Given the description of an element on the screen output the (x, y) to click on. 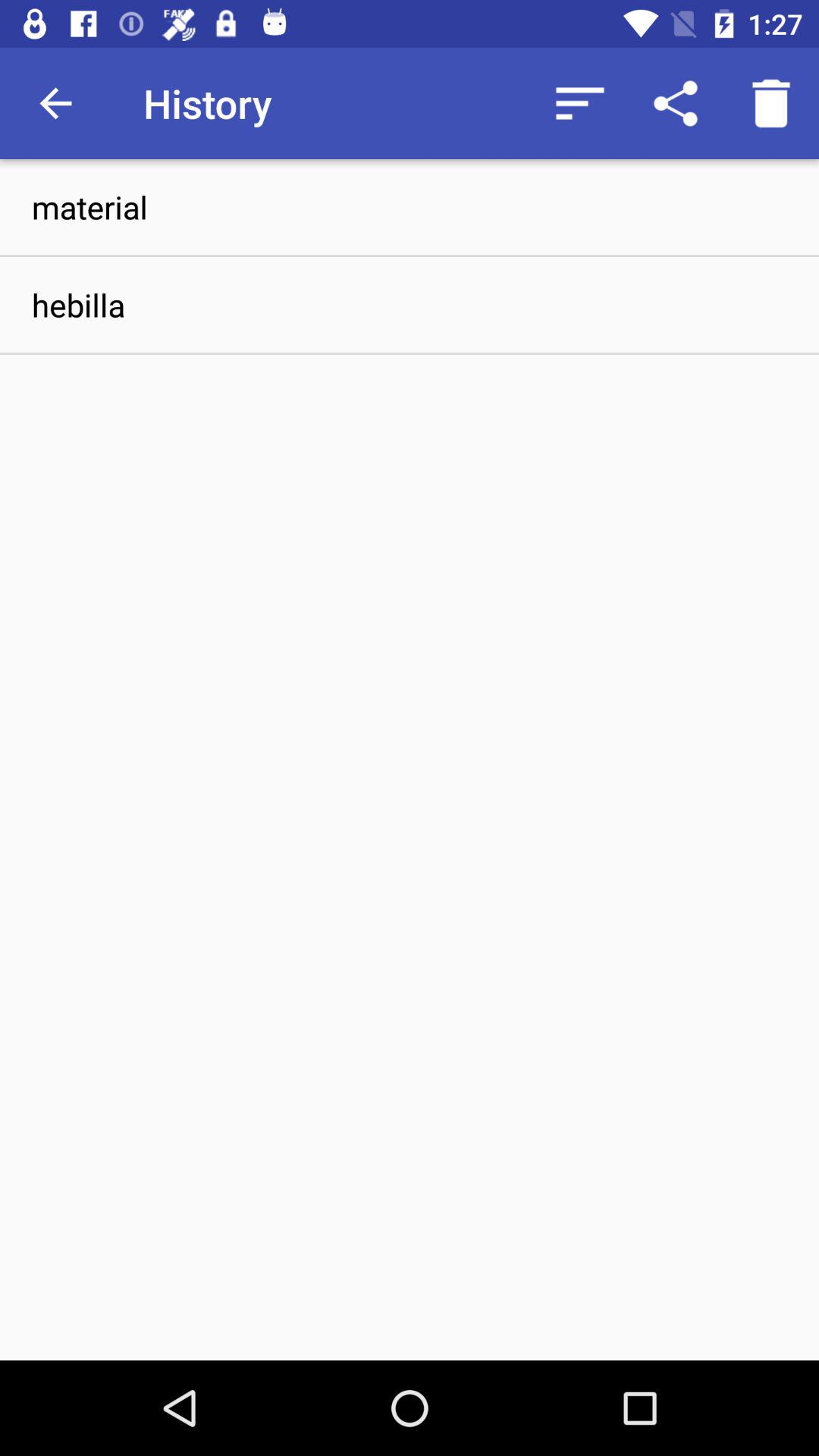
choose the icon to the right of the history (579, 103)
